Given the description of an element on the screen output the (x, y) to click on. 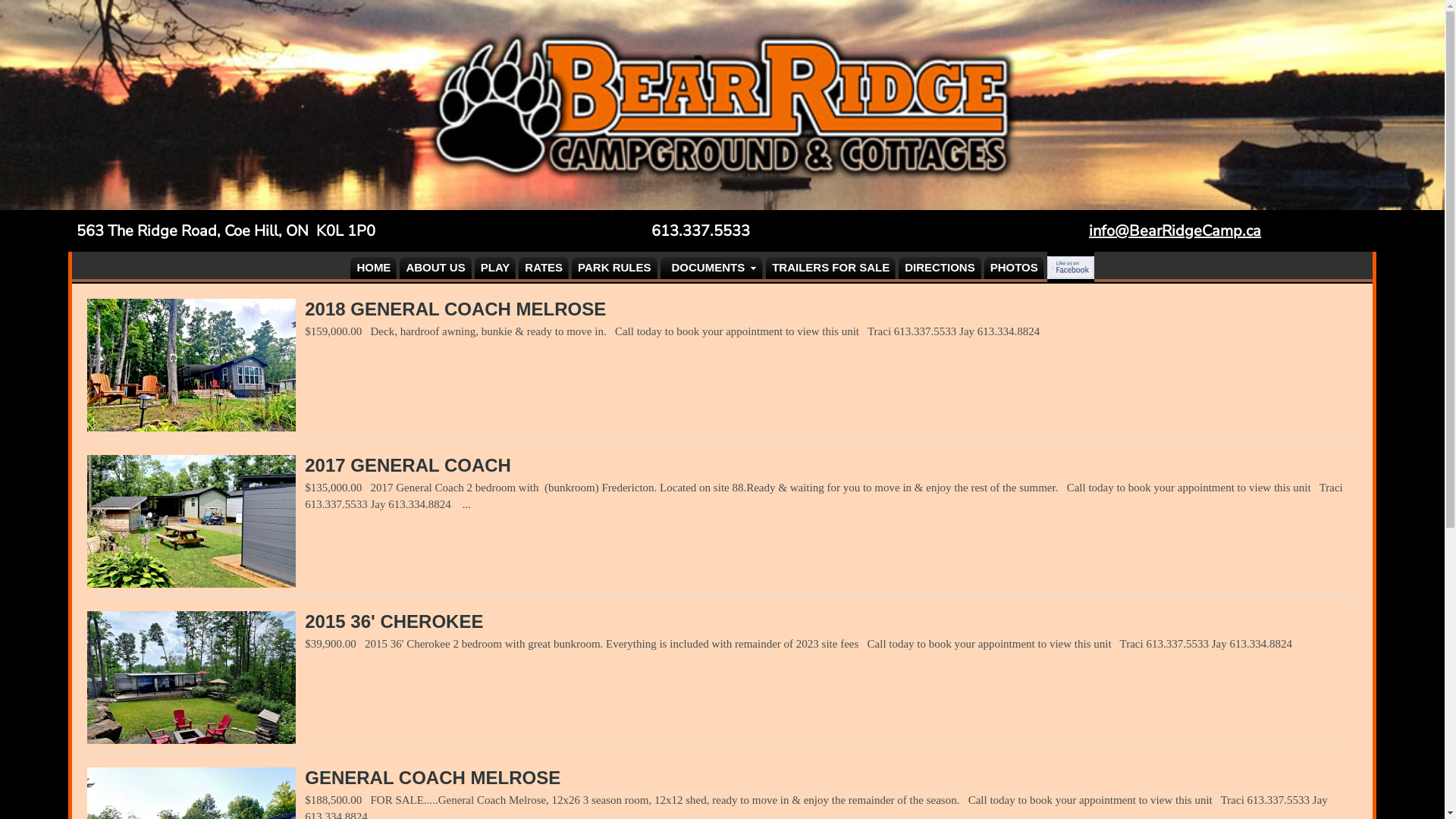
facebook Element type: hover (1070, 267)
PARK RULES Element type: text (613, 267)
TRAILERS FOR SALE Element type: text (830, 267)
HOME Element type: text (373, 267)
info@BearRidgeCamp.ca Element type: text (1175, 230)
DOCUMENTS Element type: text (710, 267)
RATES Element type: text (543, 267)
ABOUT US Element type: text (434, 267)
PLAY Element type: text (495, 267)
            Element type: text (1070, 267)
PHOTOS Element type: text (1014, 267)
DIRECTIONS Element type: text (939, 267)
